Given the description of an element on the screen output the (x, y) to click on. 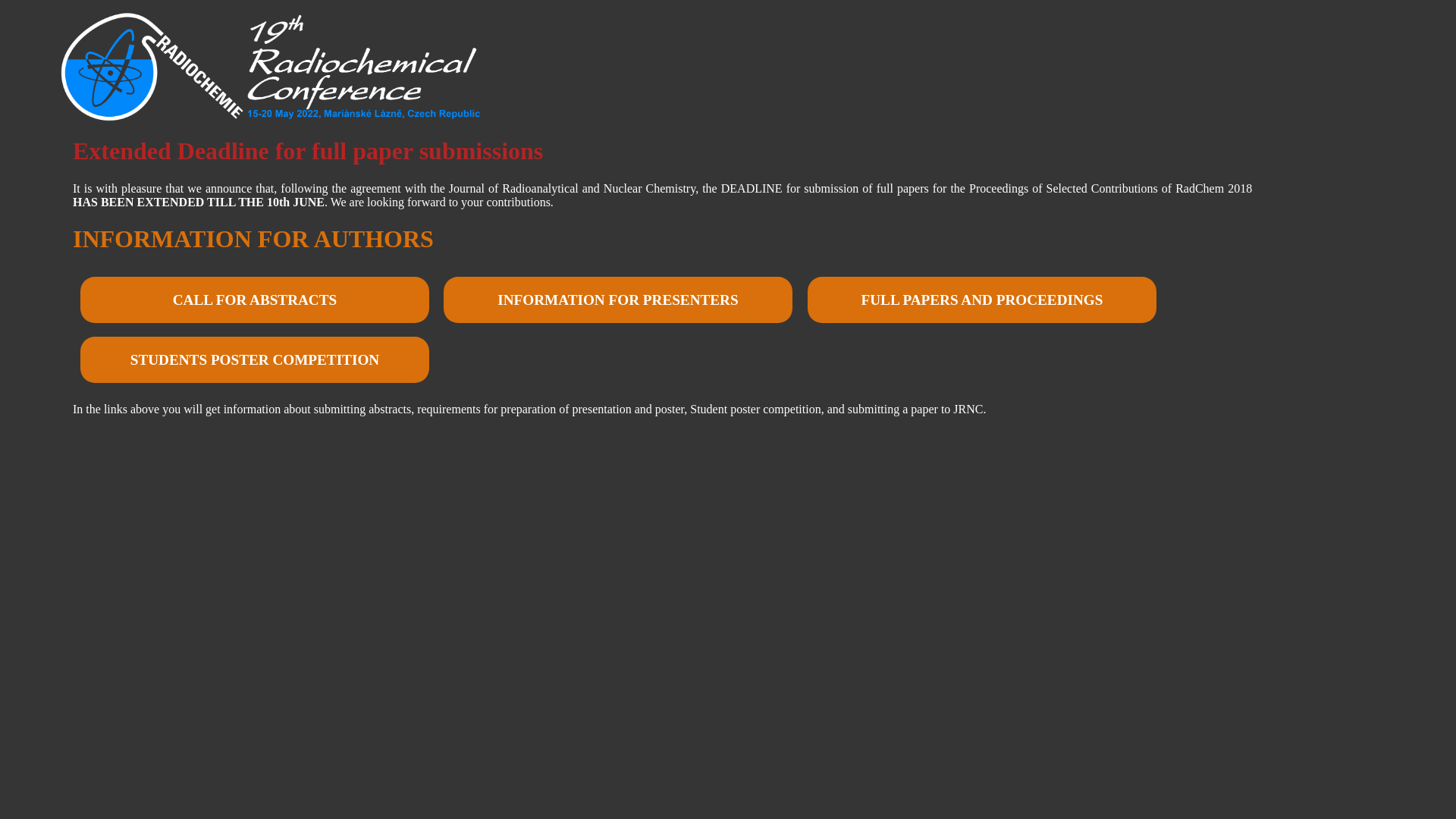
CALL FOR ABSTRACTS (254, 299)
STUDENTS POSTER COMPETITION (254, 359)
FULL PAPERS AND PROCEEDINGS (982, 299)
INFORMATION FOR PRESENTERS (618, 299)
